Given the description of an element on the screen output the (x, y) to click on. 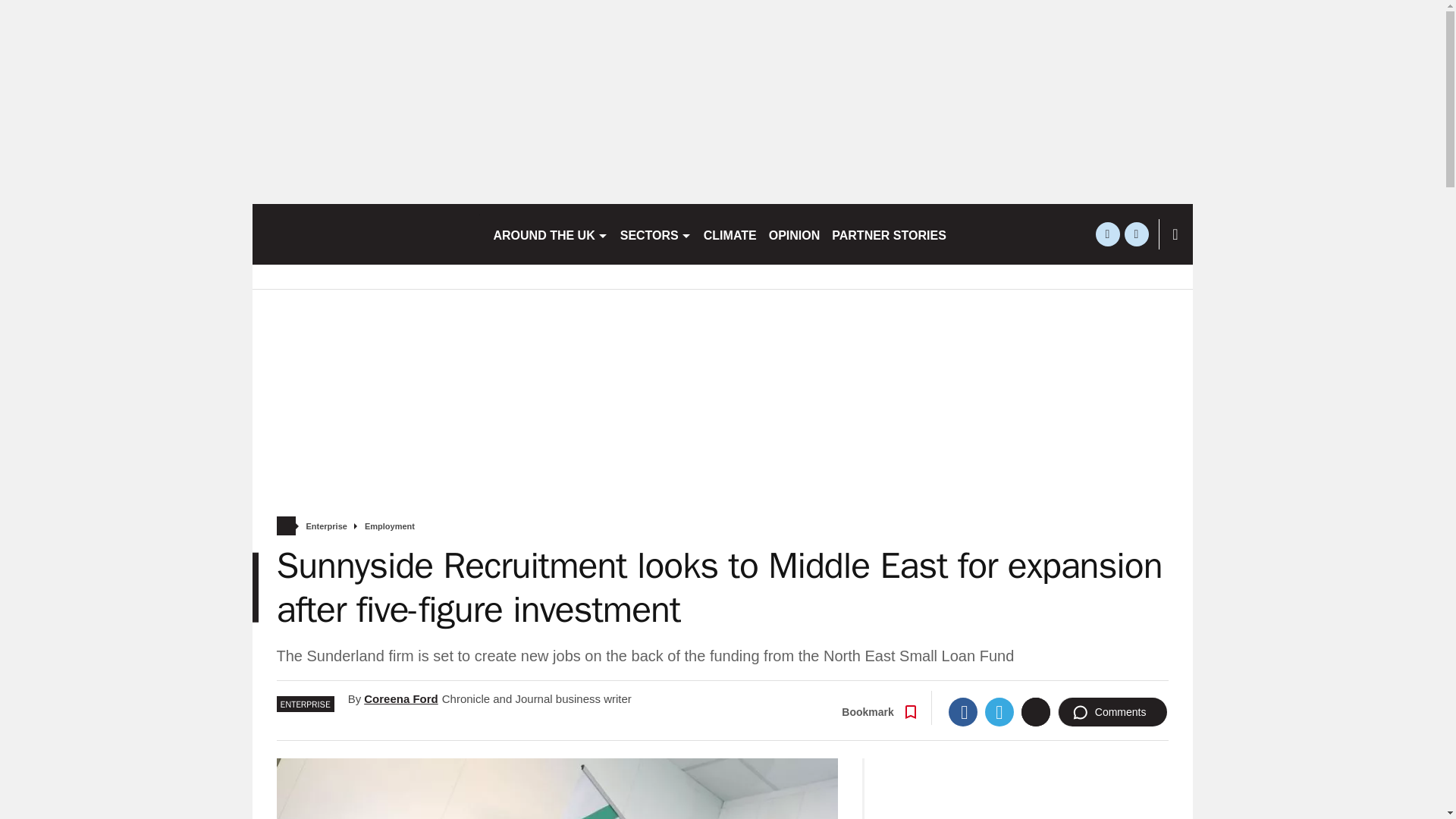
twitter (1106, 233)
birminghampost (365, 233)
linkedin (1136, 233)
SECTORS (655, 233)
Facebook (962, 711)
CLIMATE (729, 233)
OPINION (794, 233)
Comments (1112, 711)
PARTNER STORIES (888, 233)
AROUND THE UK (549, 233)
